Given the description of an element on the screen output the (x, y) to click on. 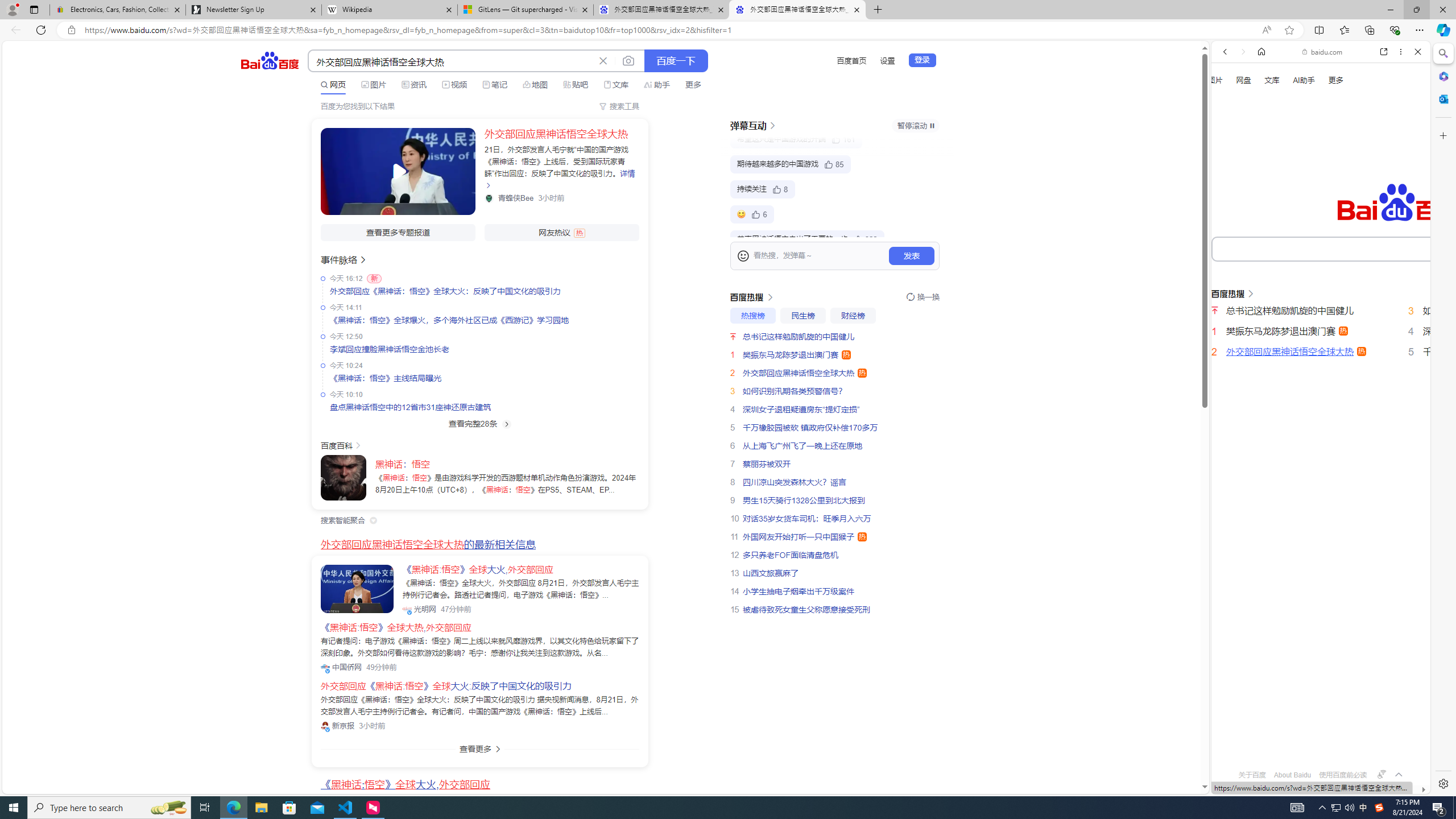
English (Uk) (1320, 357)
